Given the description of an element on the screen output the (x, y) to click on. 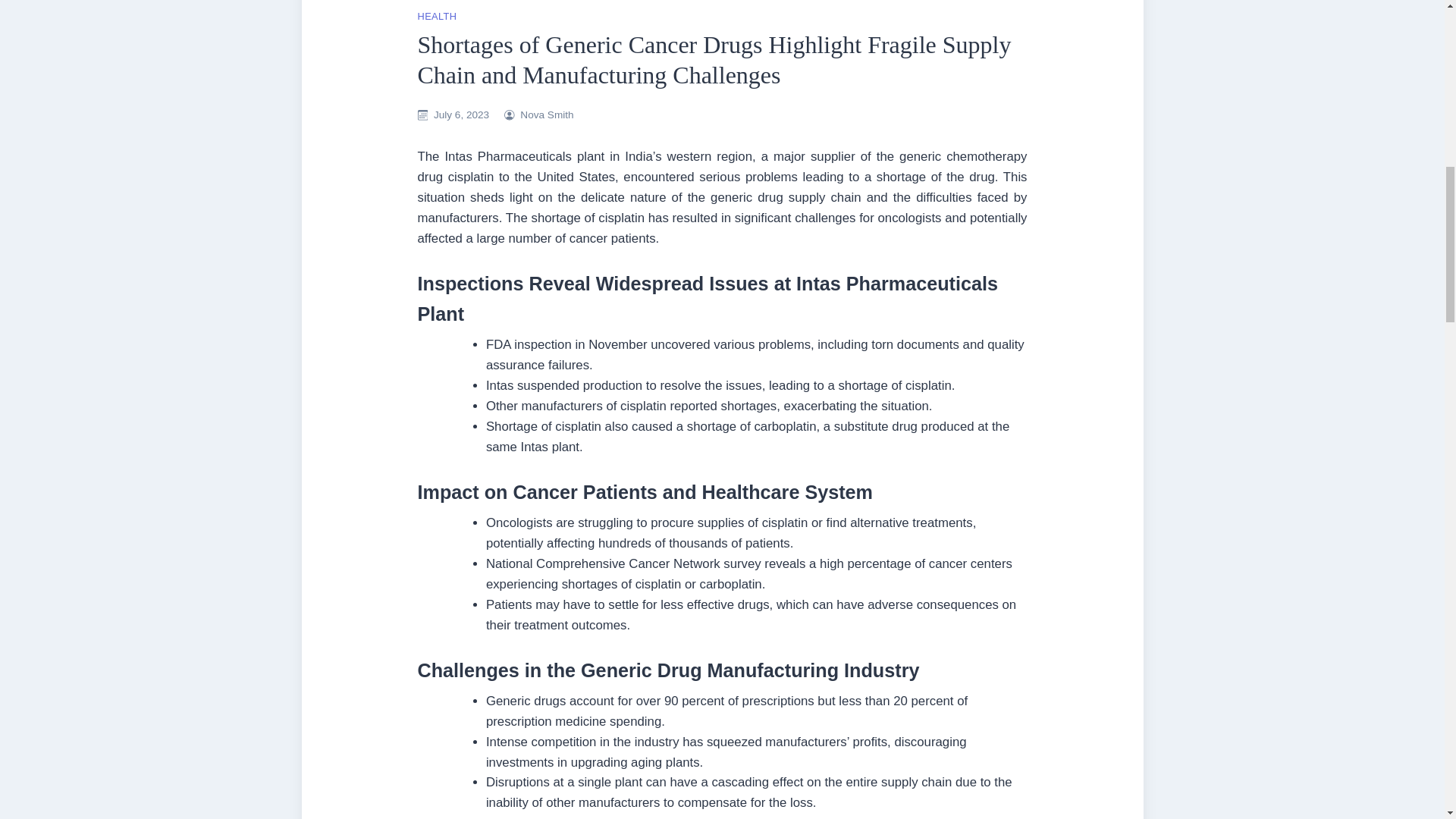
July 6, 2023 (461, 114)
Nova Smith (546, 114)
Go to Top (1419, 48)
HEALTH (436, 16)
